Given the description of an element on the screen output the (x, y) to click on. 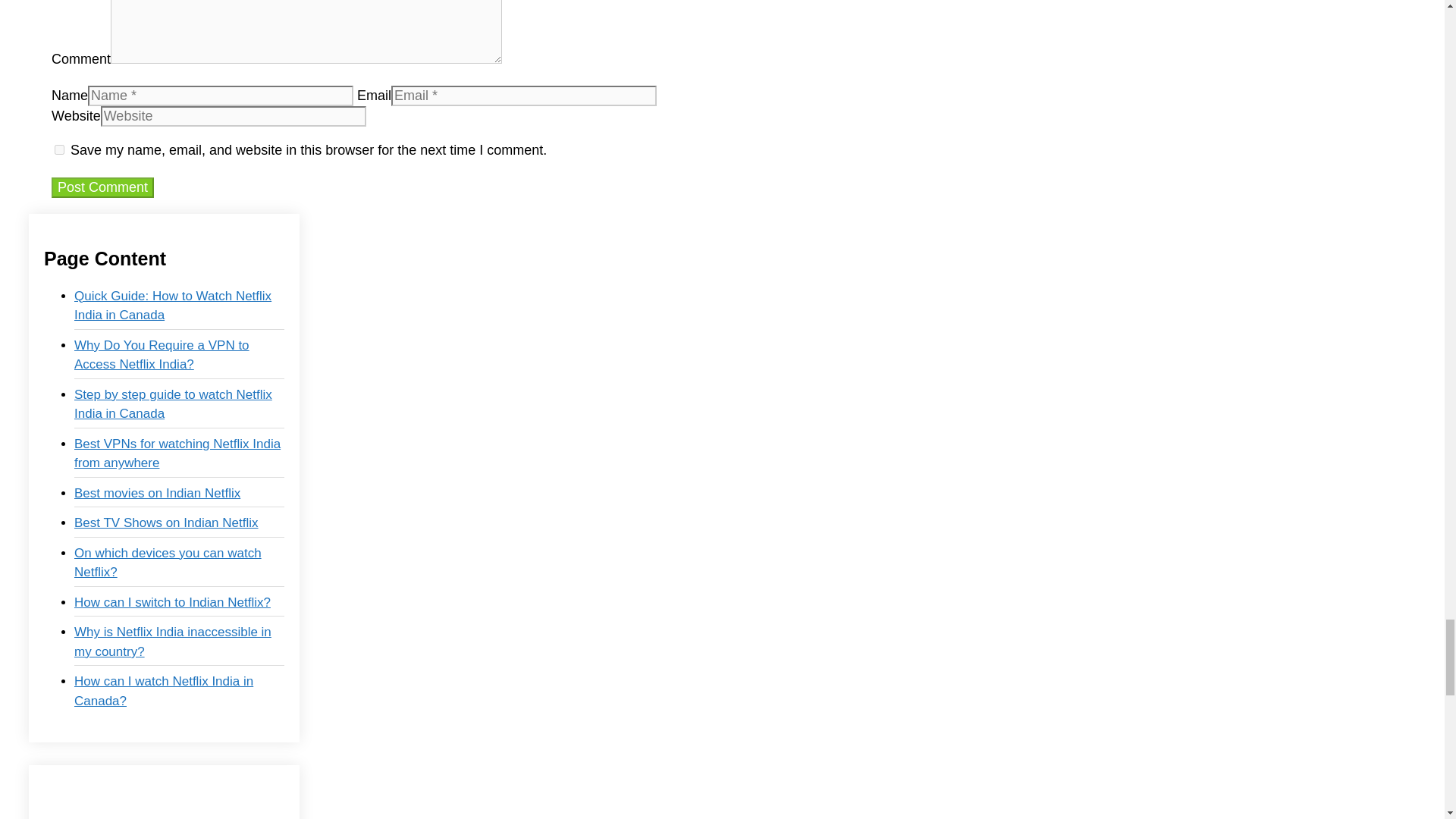
Post Comment (102, 187)
Best movies on Indian Netflix (157, 493)
Why Do You Require a VPN to Access Netflix India? (161, 355)
Best TV Shows on Indian Netflix (166, 522)
Post Comment (102, 187)
Quick Guide: How to Watch Netflix India in Canada (172, 305)
Best VPNs for watching Netflix India from anywhere (177, 453)
Step by step guide to watch Netflix India in Canada (173, 404)
yes (59, 149)
